Given the description of an element on the screen output the (x, y) to click on. 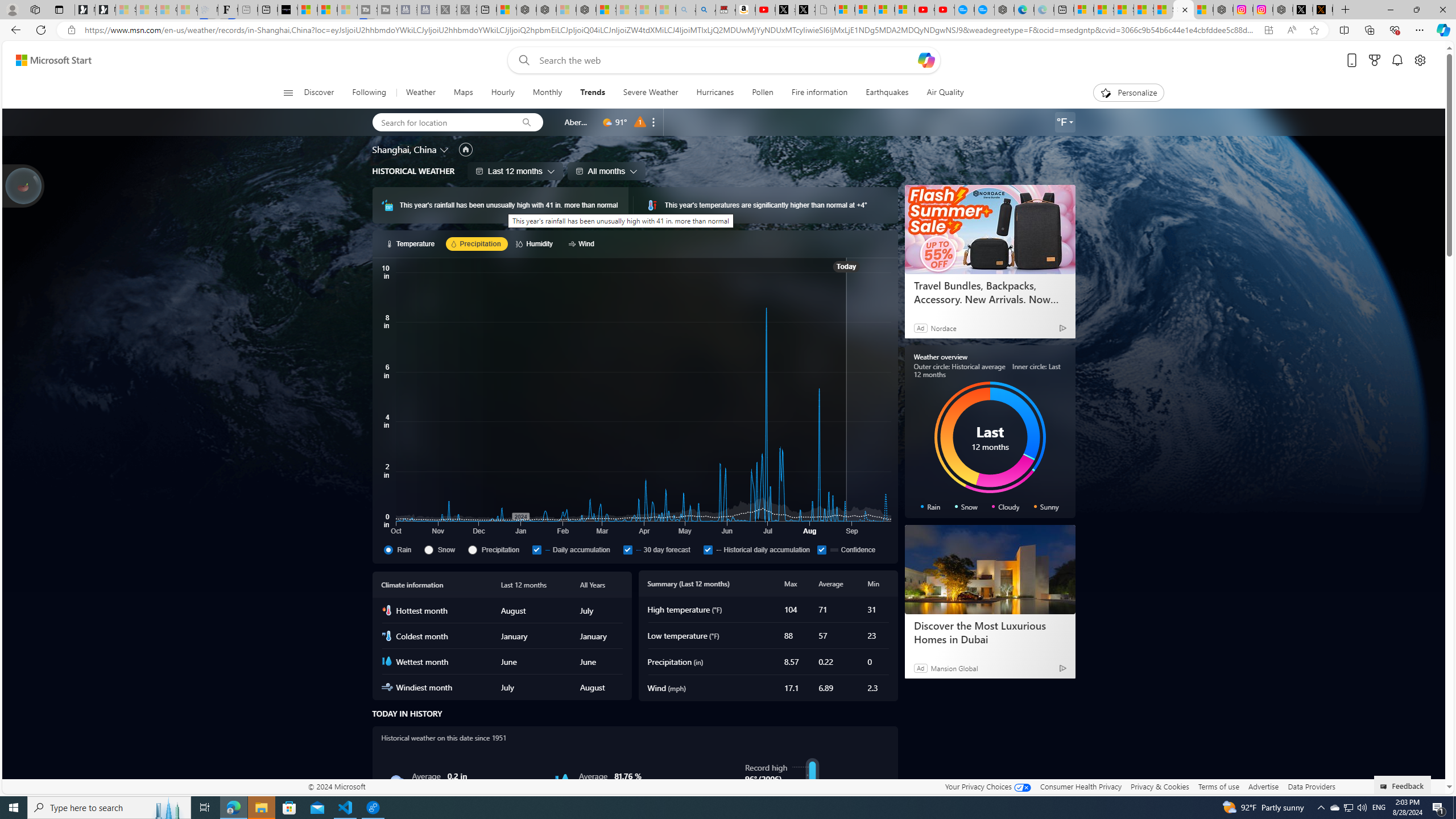
Precipitation (472, 549)
Daily accumulation (536, 549)
Air Quality (940, 92)
Nordace (@NordaceOfficial) / X (1302, 9)
Humidity (536, 243)
Consumer Health Privacy (1080, 785)
Untitled (825, 9)
